Given the description of an element on the screen output the (x, y) to click on. 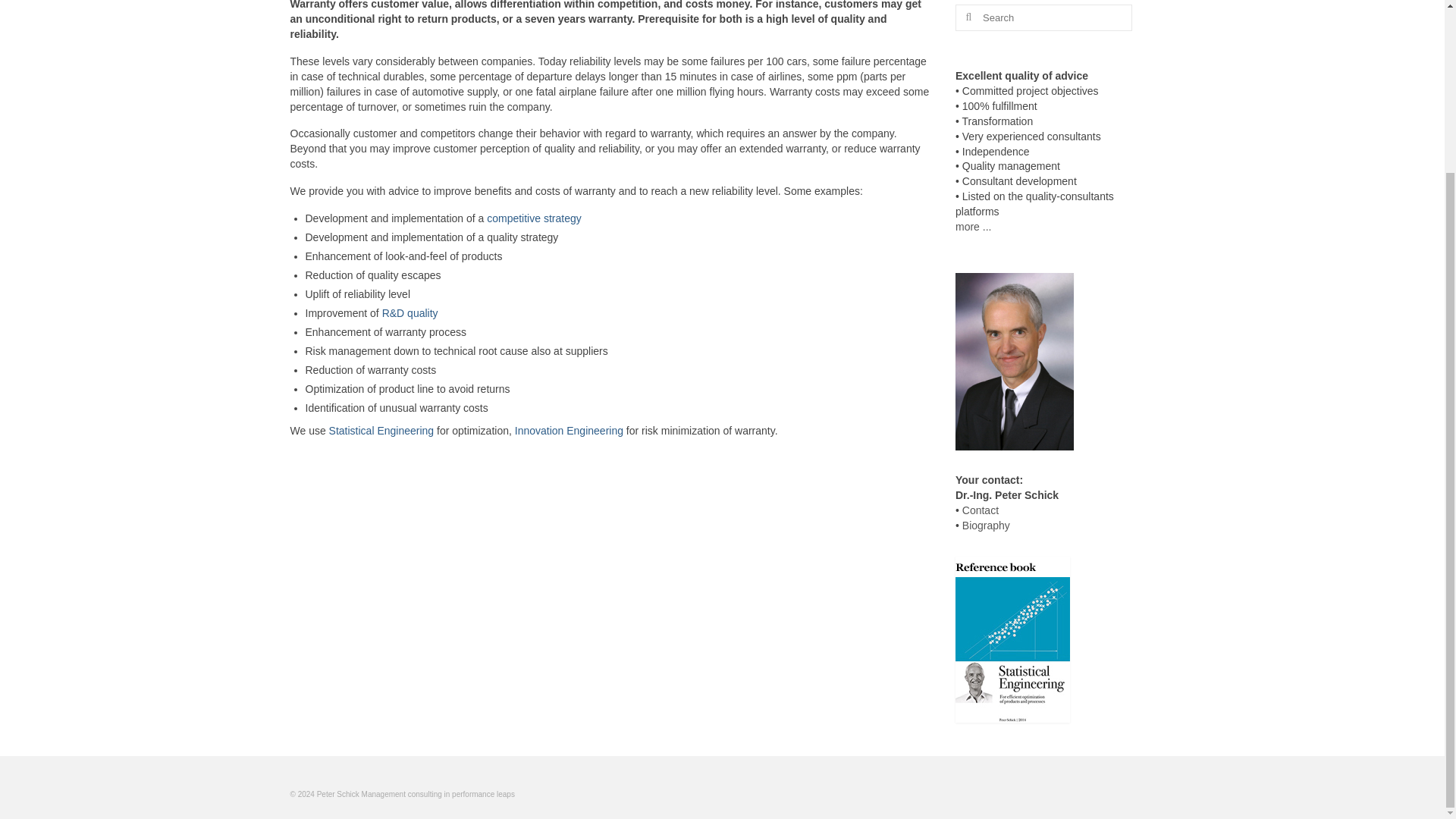
Excellent quality of advice (973, 226)
Competitive strategy (533, 218)
Innovation Engineering (569, 430)
Statistical Engineering (381, 430)
